Given the description of an element on the screen output the (x, y) to click on. 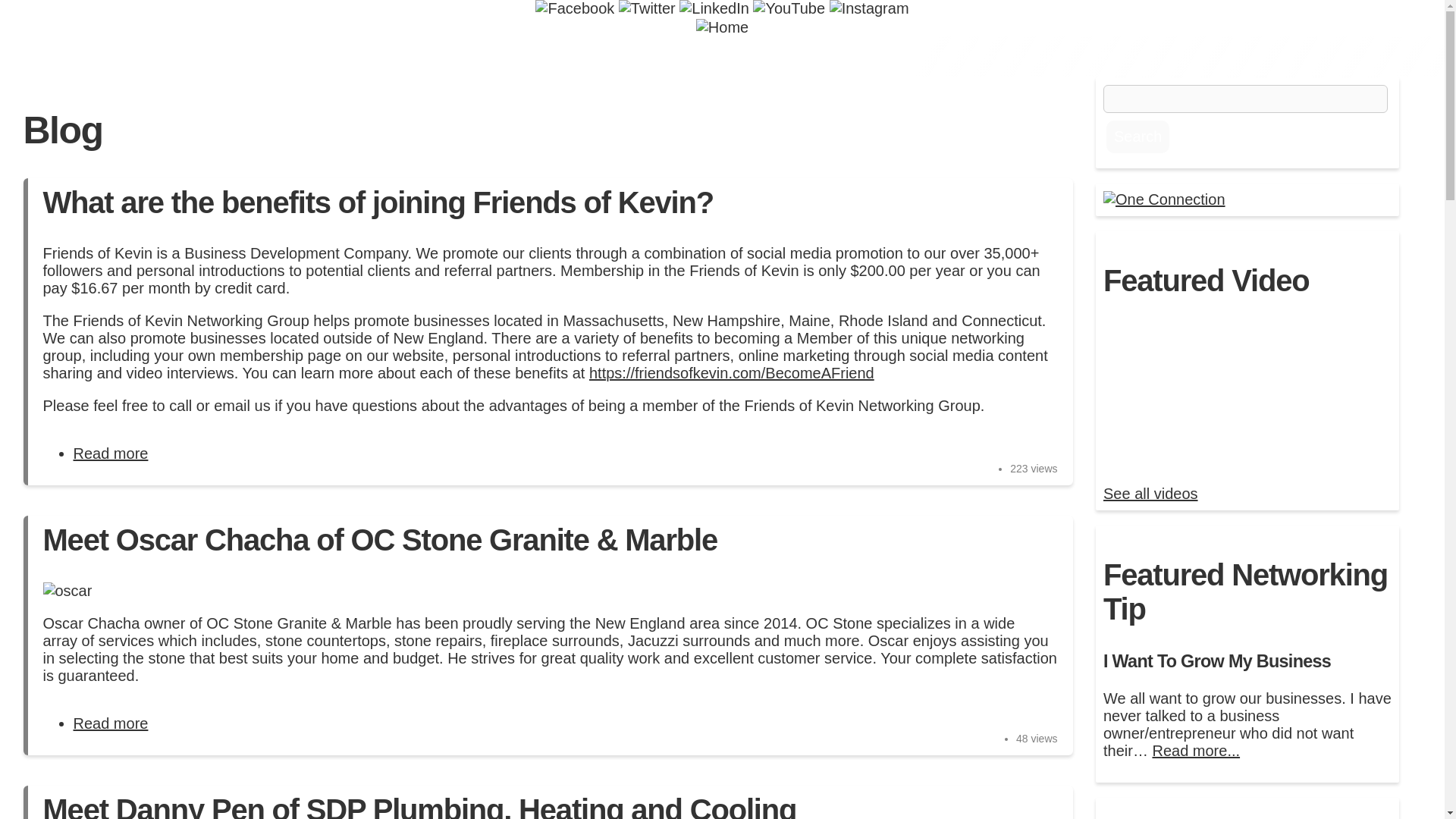
FRIENDS (636, 56)
USER (315, 56)
BENEFITS OF MEMBERSHIP (486, 56)
NETWORKING TIPS (995, 56)
SHOPPING CART (356, 56)
What are the benefits of joining Friends of Kevin? (377, 202)
oscar (66, 590)
Search (1137, 136)
Meet Danny Pen of SDP Plumbing, Heating and Cooling (419, 806)
What are the benefits of joining Friends of Kevin? (110, 453)
VIDEOS (1112, 56)
KEVIN'S BLOG (855, 56)
KEVIN RADIO (736, 56)
